Given the description of an element on the screen output the (x, y) to click on. 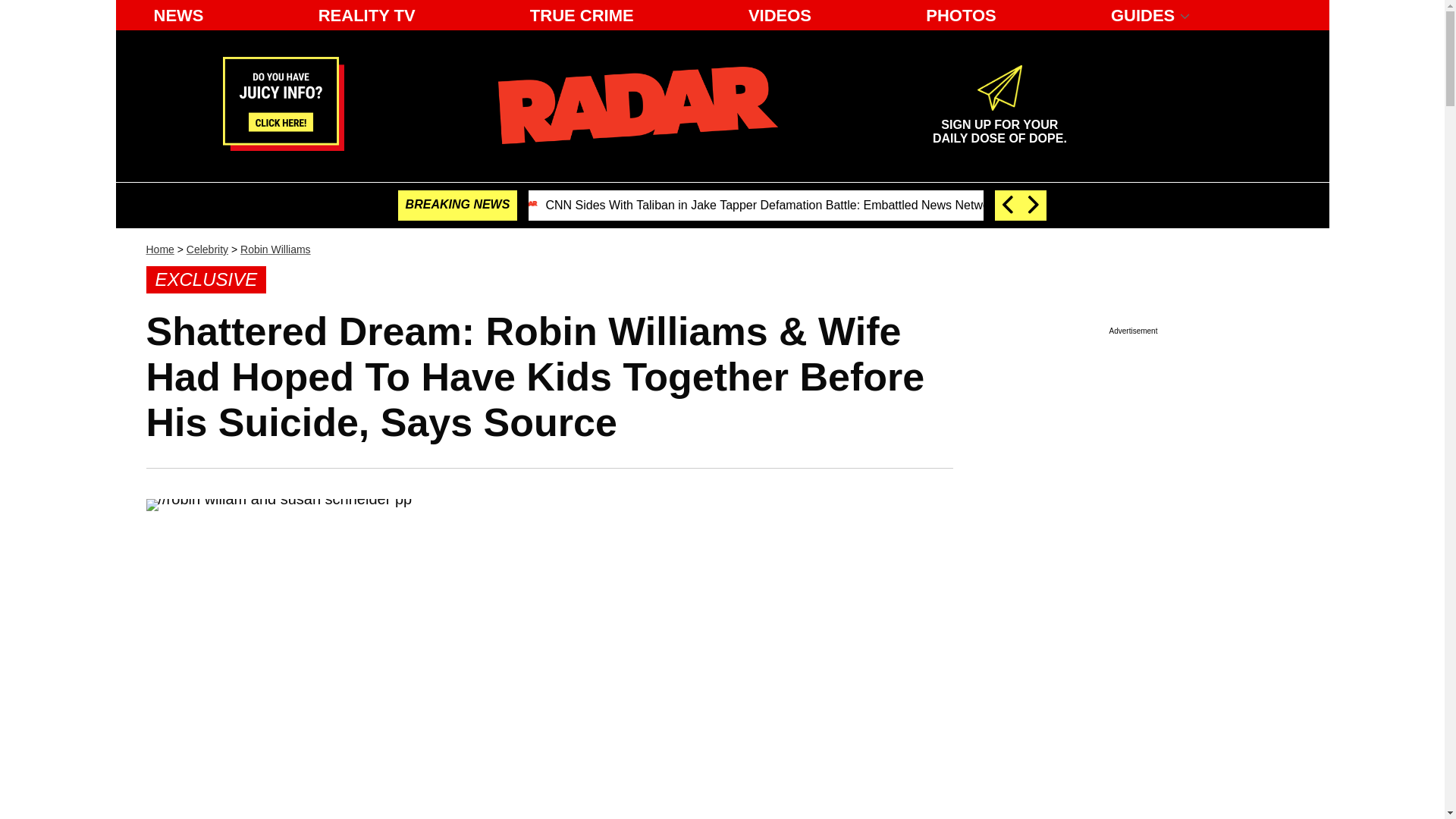
Robin Williams (275, 249)
NEWS (178, 15)
TRUE CRIME (999, 124)
VIDEOS (582, 15)
Sign up for your daily dose of dope. (779, 15)
Email us your tip (999, 124)
REALITY TV (282, 146)
Radar Online (367, 15)
PHOTOS (637, 105)
Home (961, 15)
Celebrity (159, 249)
